Given the description of an element on the screen output the (x, y) to click on. 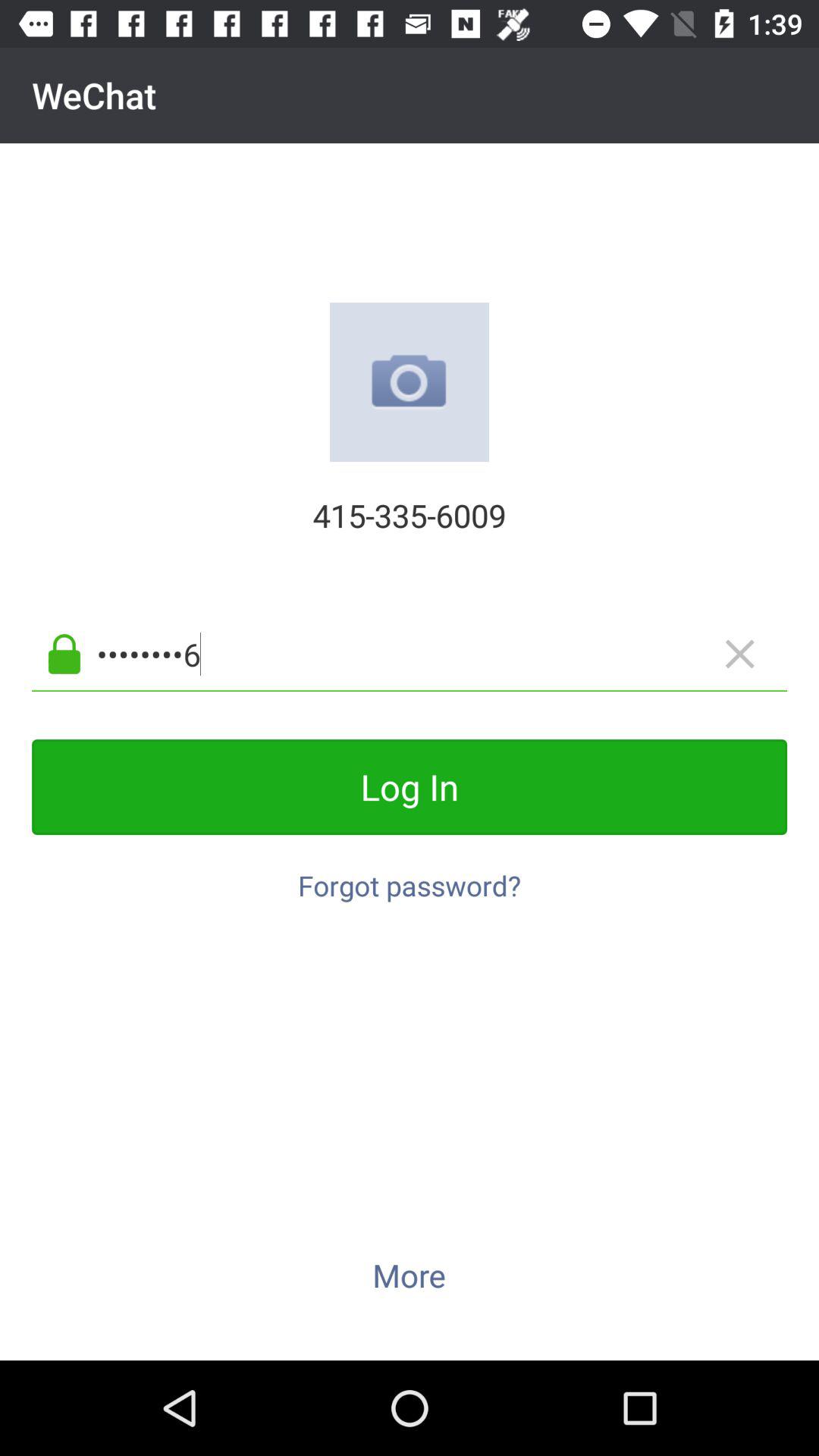
tap crowd3116 icon (433, 653)
